Given the description of an element on the screen output the (x, y) to click on. 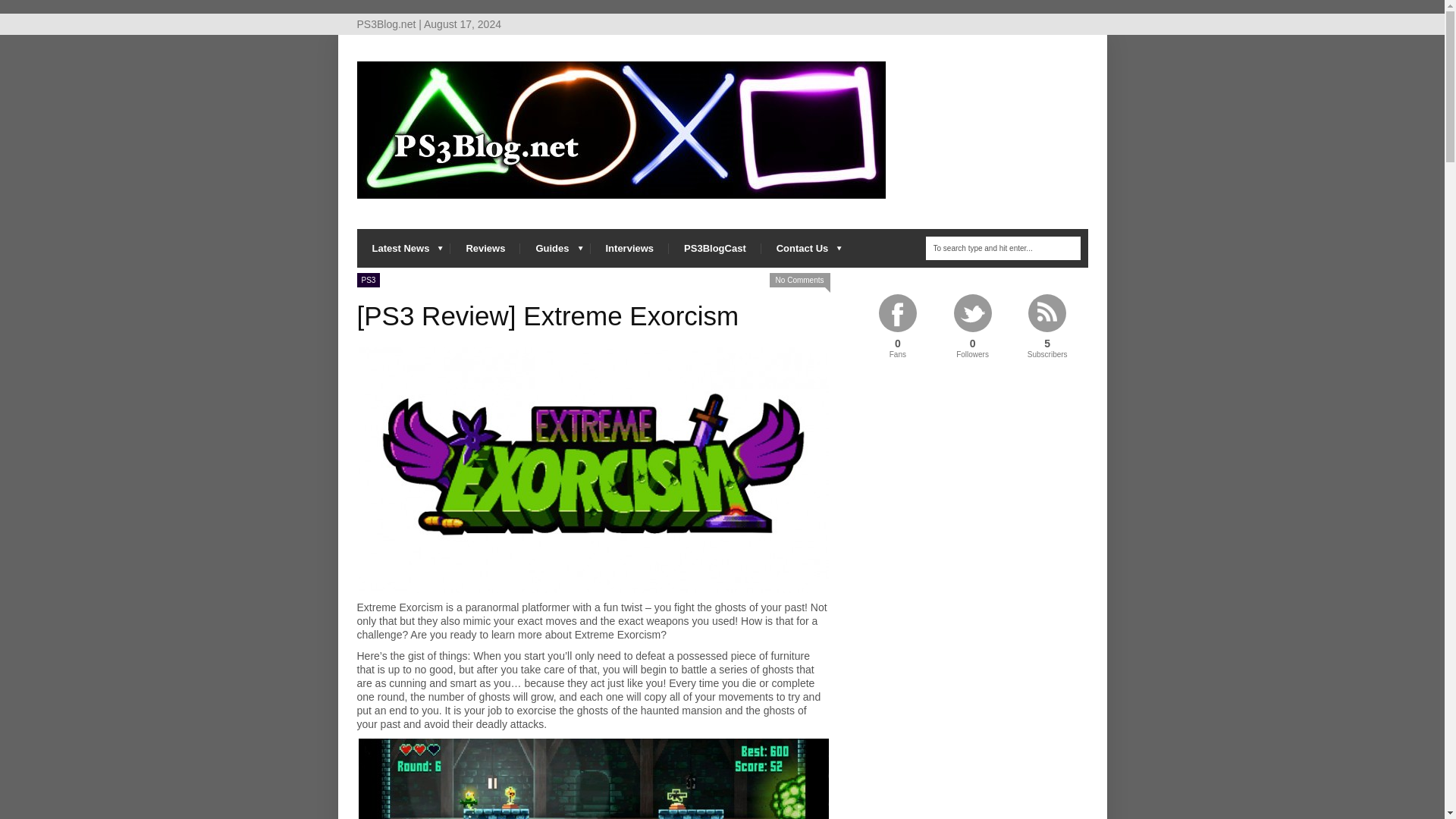
PS3 (368, 279)
To search type and hit enter... (1002, 248)
No Comments (799, 279)
Interviews (628, 248)
PS3BlogCast (714, 248)
Reviews (484, 248)
